Given the description of an element on the screen output the (x, y) to click on. 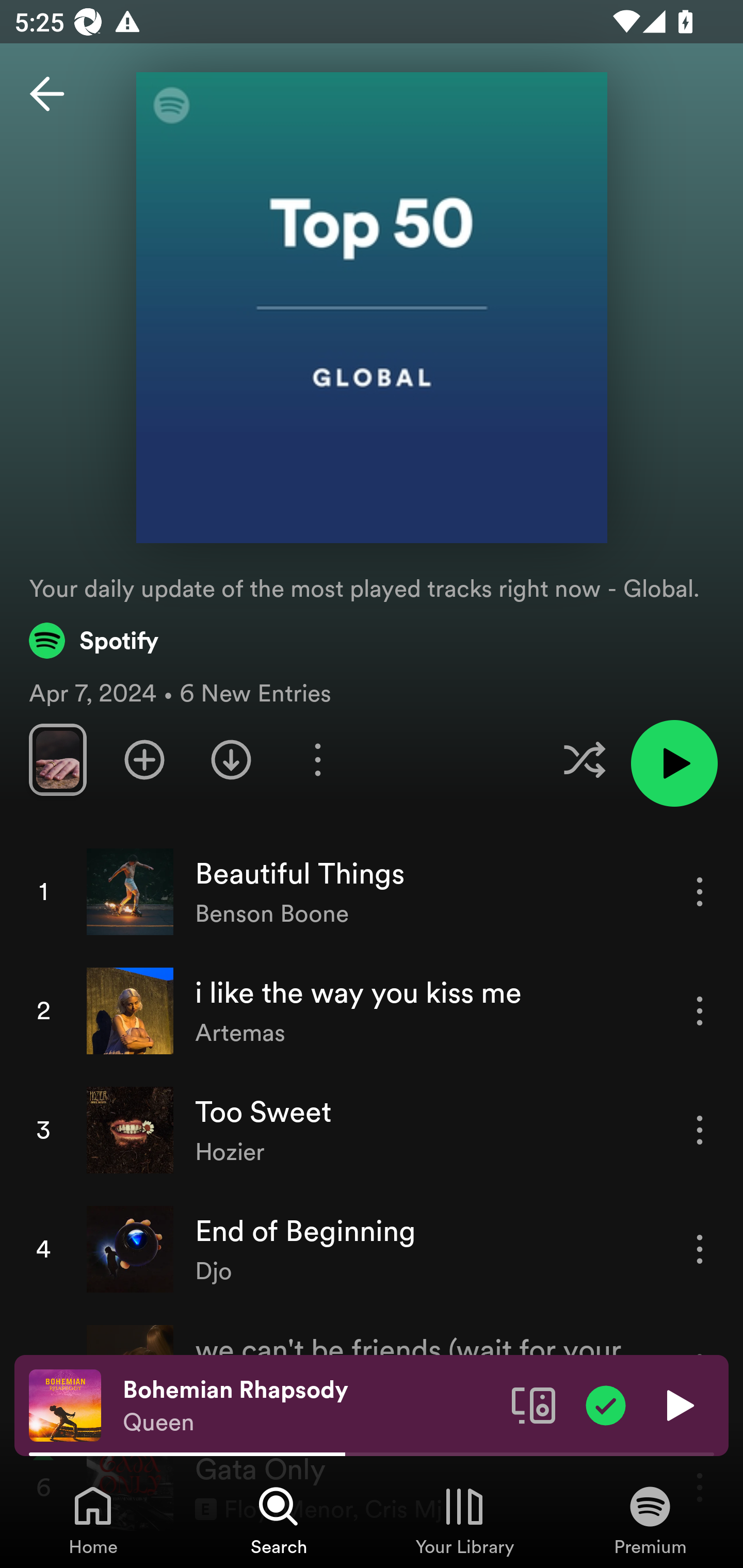
Back (46, 93)
Spotify (93, 640)
Swipe through previews of tracks in this playlist. (57, 759)
Add playlist to Your Library (144, 759)
Download (230, 759)
More options for playlist Top 50 - Global (317, 759)
Enable shuffle for this playlist (583, 759)
Play playlist (674, 763)
More options for song Beautiful Things (699, 891)
More options for song i like the way you kiss me (699, 1010)
3 Too Sweet Hozier More options for song Too Sweet (371, 1130)
More options for song Too Sweet (699, 1129)
More options for song End of Beginning (699, 1248)
Bohemian Rhapsody Queen (309, 1405)
The cover art of the currently playing track (64, 1404)
Connect to a device. Opens the devices menu (533, 1404)
Item added (605, 1404)
Play (677, 1404)
Home, Tab 1 of 4 Home Home (92, 1519)
Search, Tab 2 of 4 Search Search (278, 1519)
Your Library, Tab 3 of 4 Your Library Your Library (464, 1519)
Premium, Tab 4 of 4 Premium Premium (650, 1519)
